Given the description of an element on the screen output the (x, y) to click on. 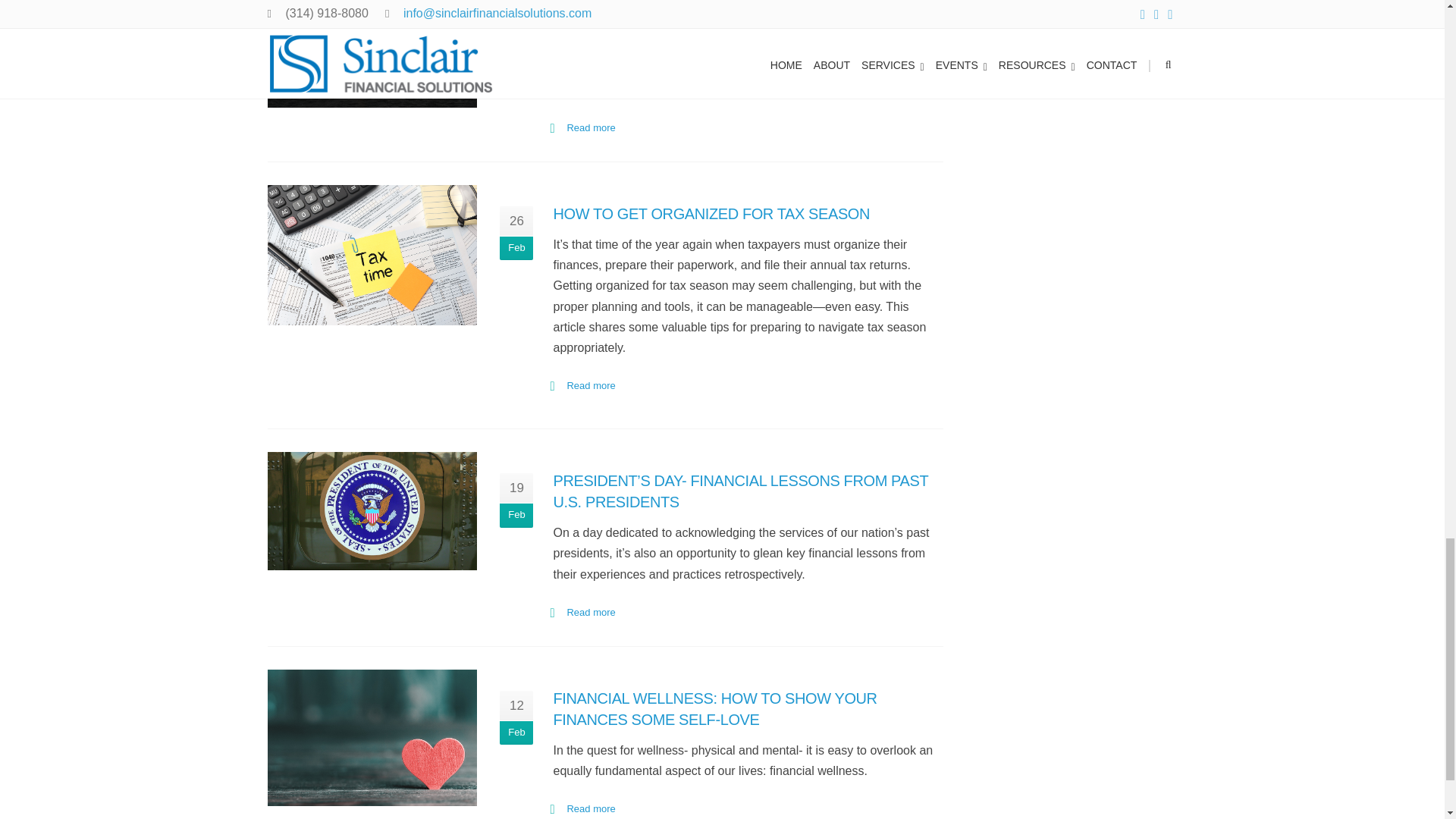
7 Tips to Help Couples Build a Financial Future Together (371, 53)
